Given the description of an element on the screen output the (x, y) to click on. 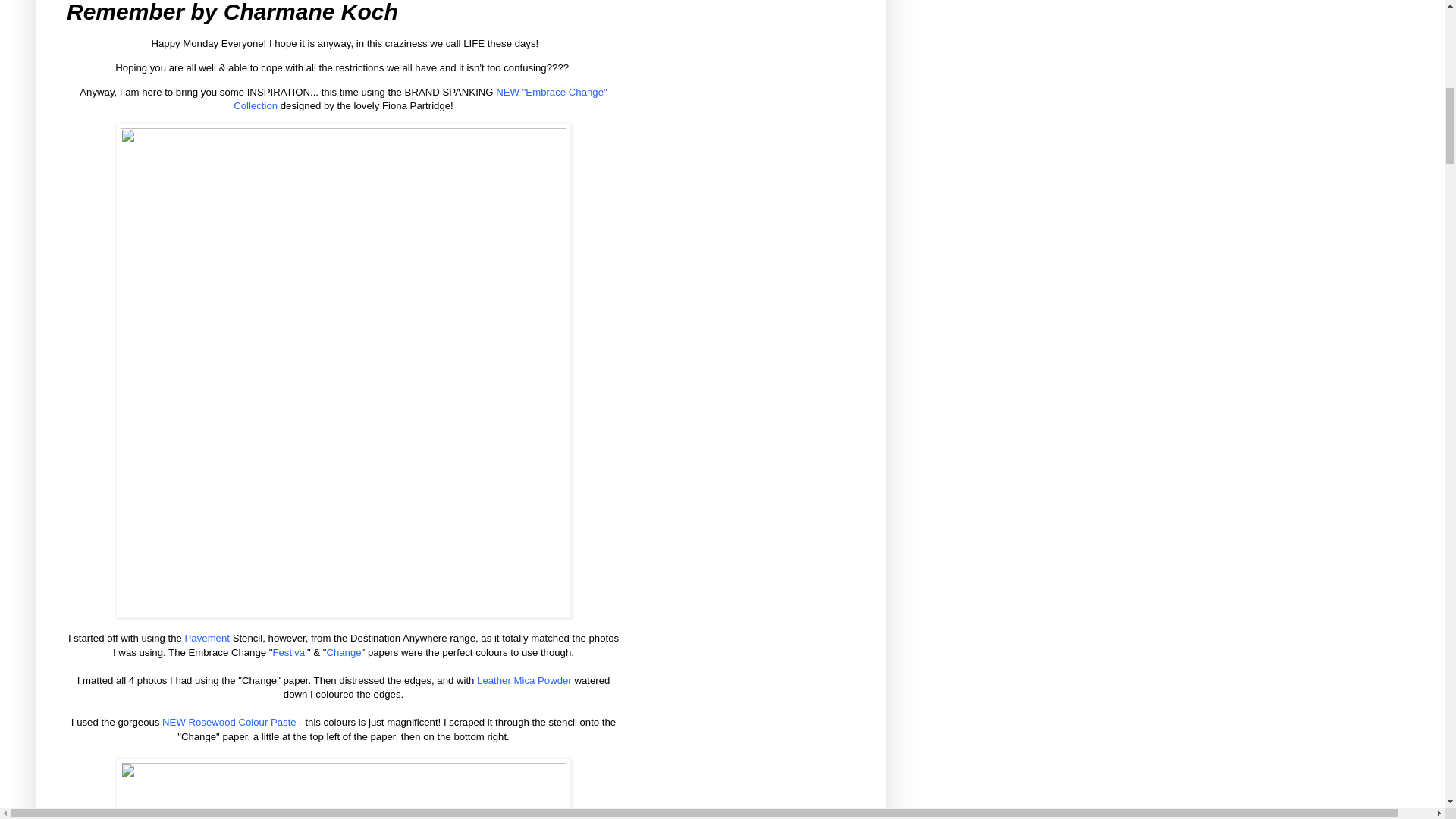
Change (343, 652)
NEW "Embrace Change" Collection (419, 98)
Pavement (207, 637)
Festival (288, 652)
NEW Rosewood Colour Paste (229, 722)
Leather Mica Powder (524, 680)
